Given the description of an element on the screen output the (x, y) to click on. 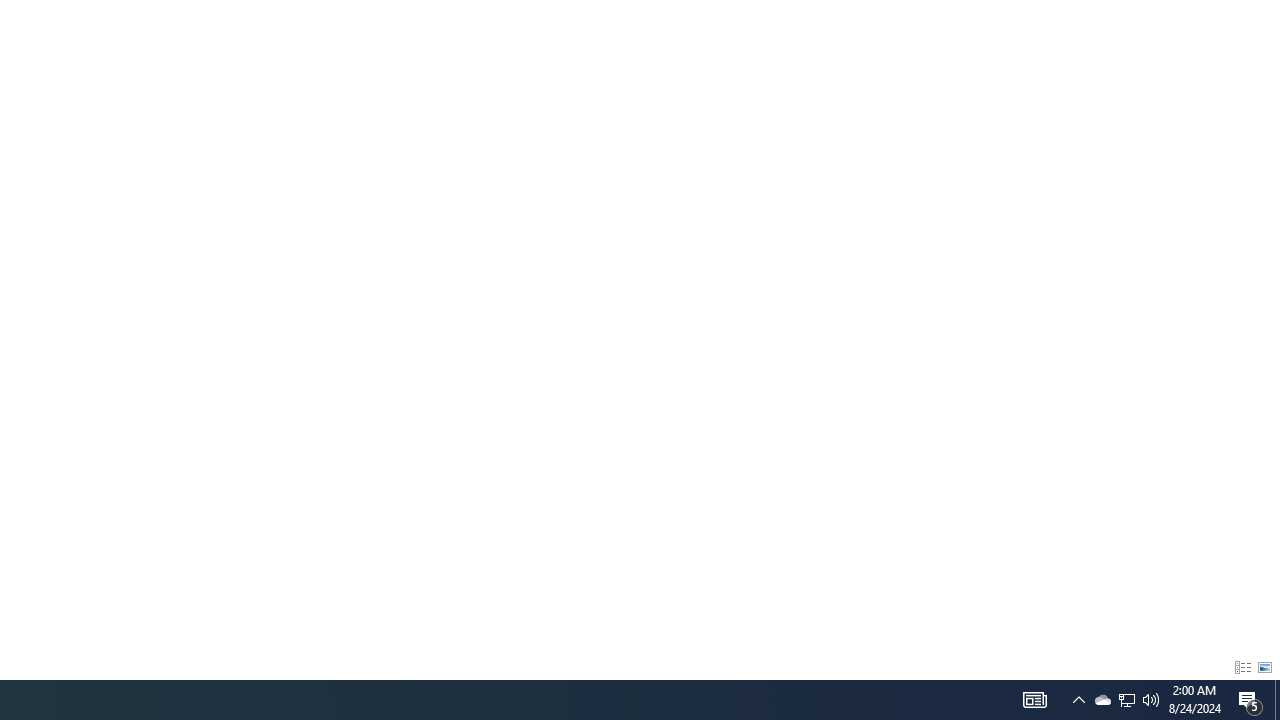
Large Icons (1265, 667)
Details (1242, 667)
